Given the description of an element on the screen output the (x, y) to click on. 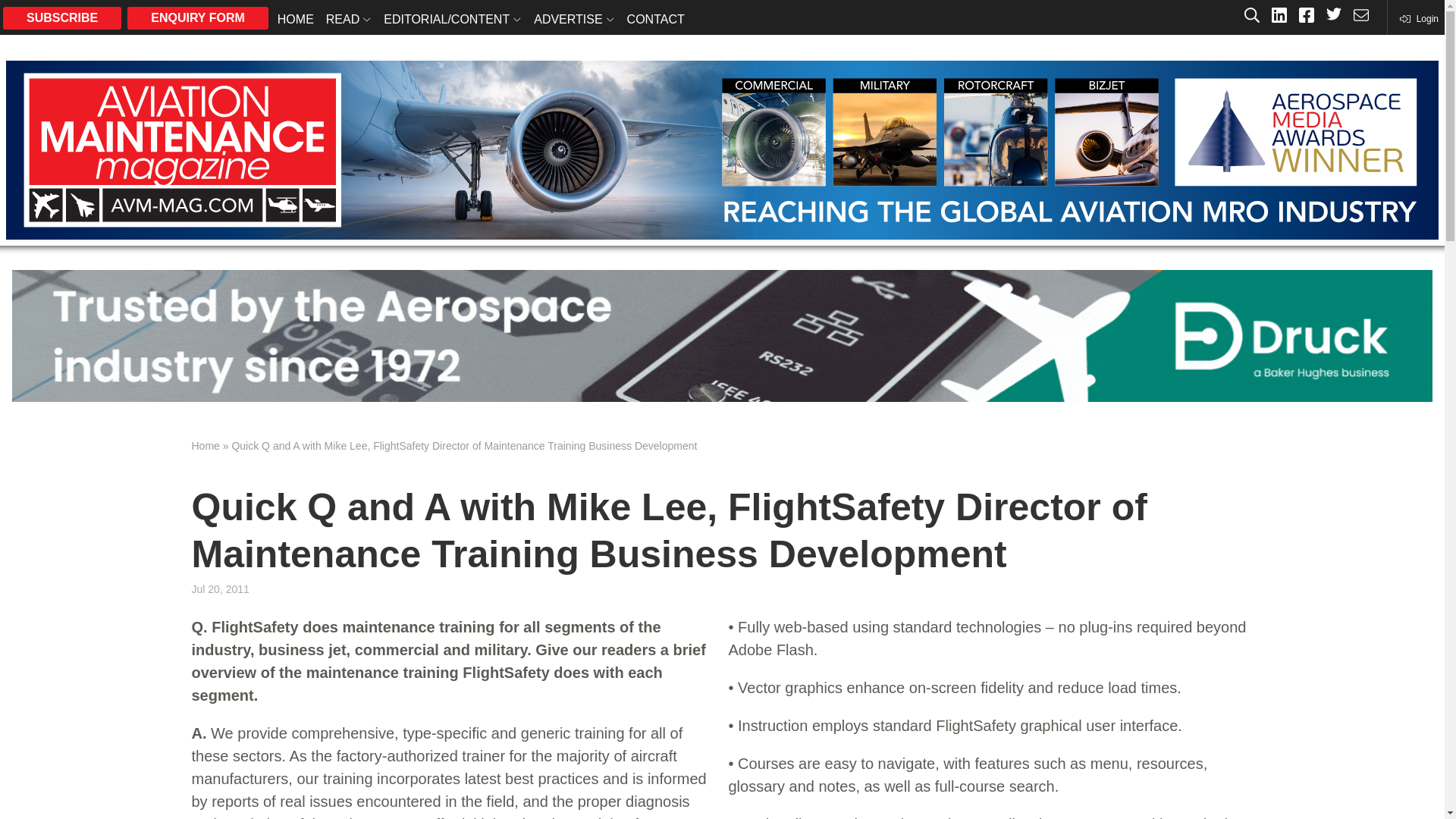
READ (348, 18)
Home (204, 445)
ENQUIRY FORM (197, 16)
Aviation Maintenance Magazine LinkedIn Company Page (1279, 17)
HOME (295, 18)
Aviation Maintenance Magazine Email Address (1361, 17)
login-icon (1418, 18)
CONTACT (655, 18)
ADVERTISE (573, 18)
Aviation Maintenance Magazine Facebook Page (1306, 17)
SUBSCRIBE (61, 16)
Aviation Maintenance Magazine Twitter Page (1333, 17)
Login (1418, 18)
